Given the description of an element on the screen output the (x, y) to click on. 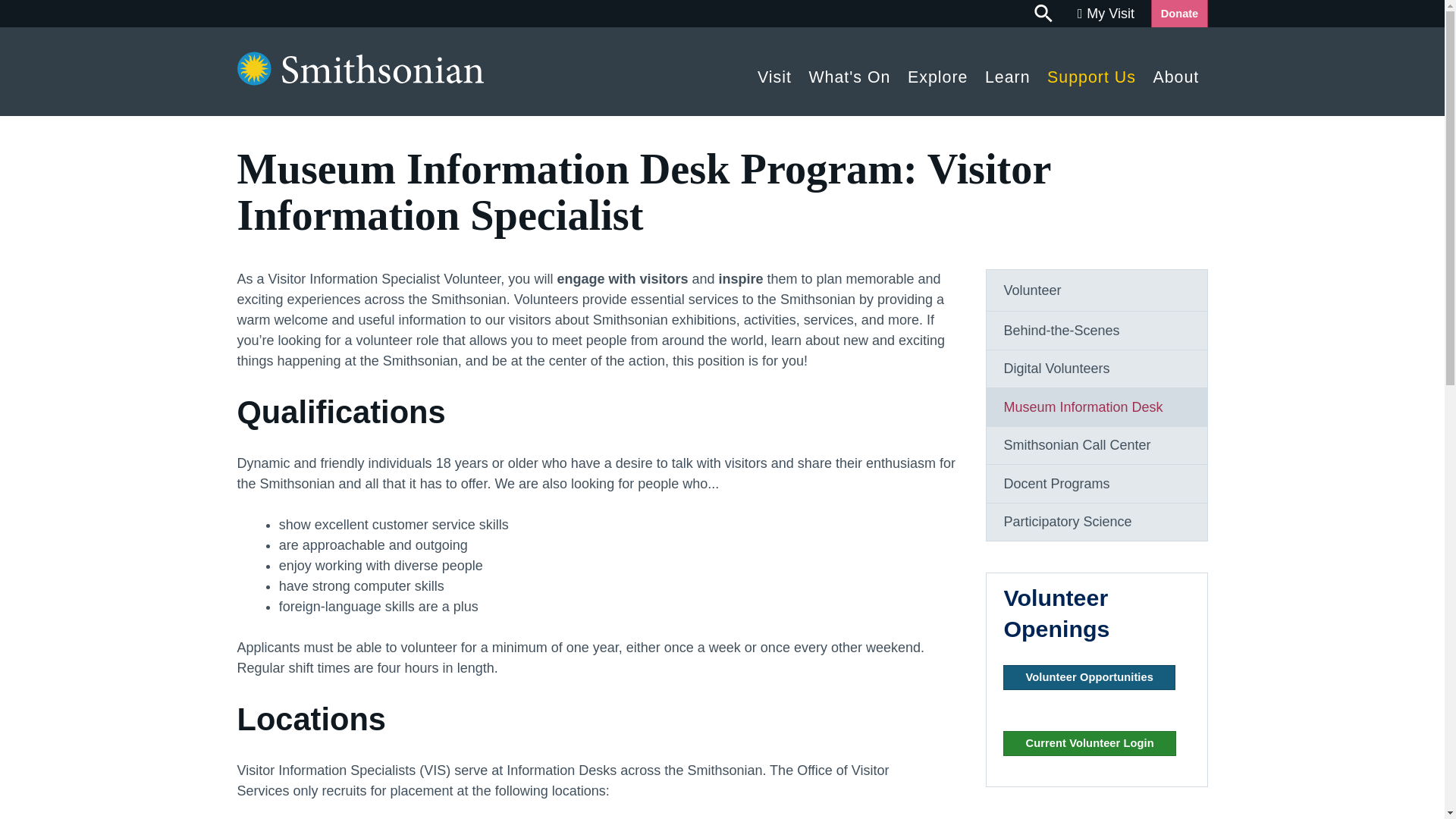
Search (1044, 13)
Explore (937, 72)
What's On (849, 72)
Home (359, 80)
Donate (1179, 13)
My Visit (1105, 13)
